Given the description of an element on the screen output the (x, y) to click on. 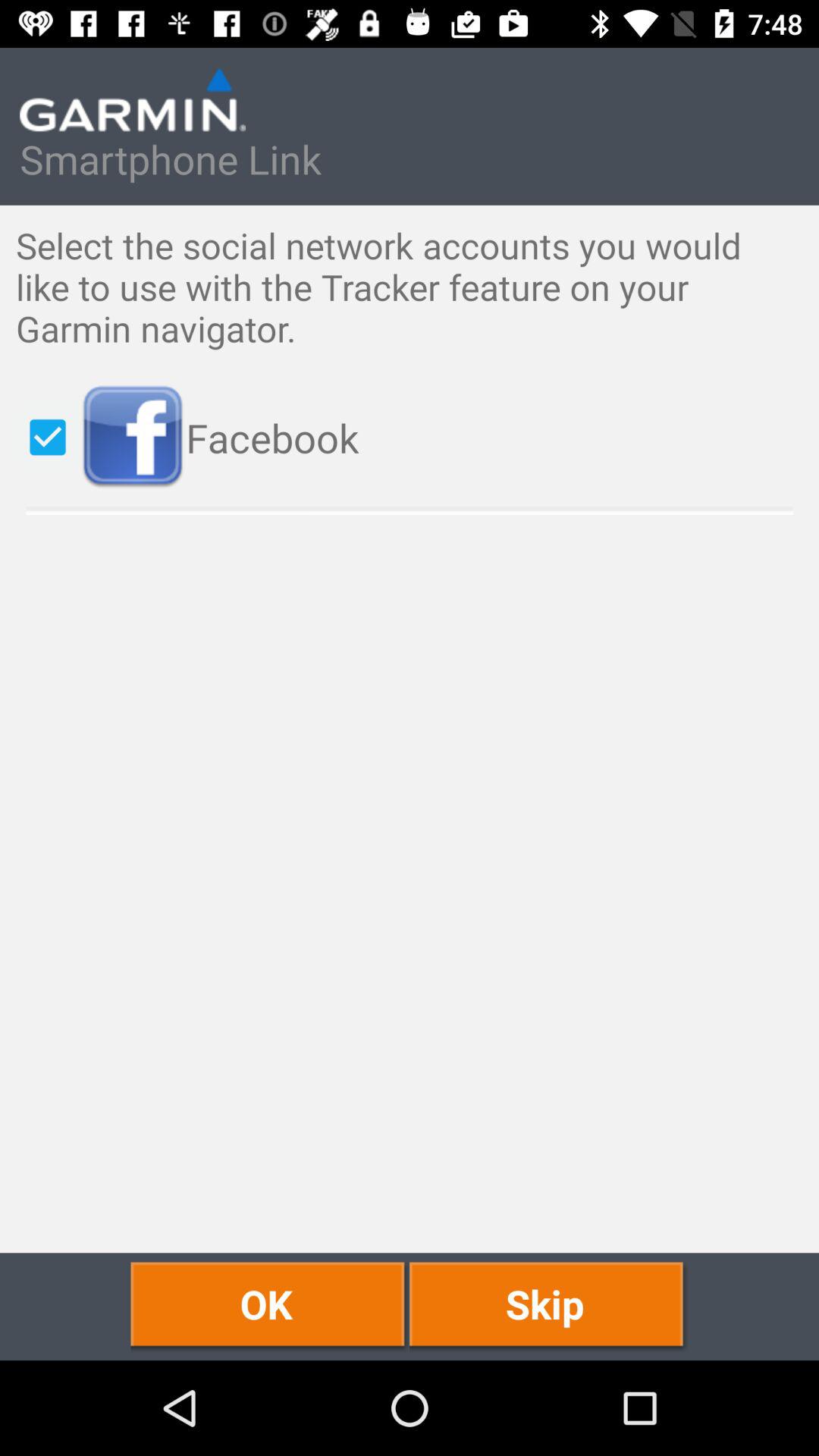
click the icon next to the skip (269, 1306)
